Given the description of an element on the screen output the (x, y) to click on. 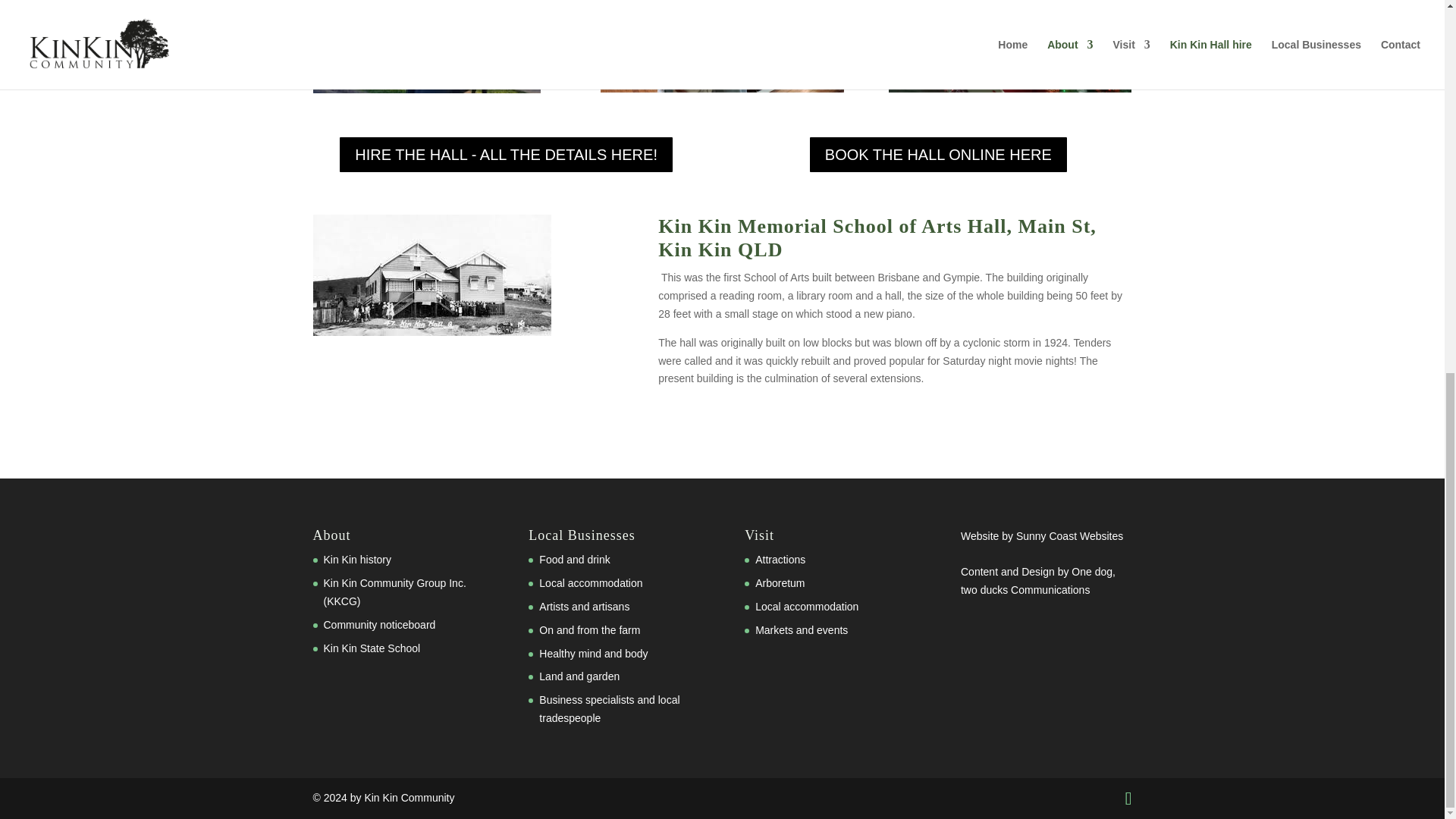
Artists and artisans (583, 606)
Food and drink (574, 559)
Kin Kin history (356, 559)
old hall kk (431, 274)
4 (721, 46)
KK xmas 2018 (1009, 46)
KK halloween 2018 horses hall (426, 46)
HIRE THE HALL - ALL THE DETAILS HERE! (505, 154)
BOOK THE HALL ONLINE HERE (938, 154)
Local accommodation (590, 582)
Community noticeboard (379, 624)
Kin Kin State School (371, 648)
